Given the description of an element on the screen output the (x, y) to click on. 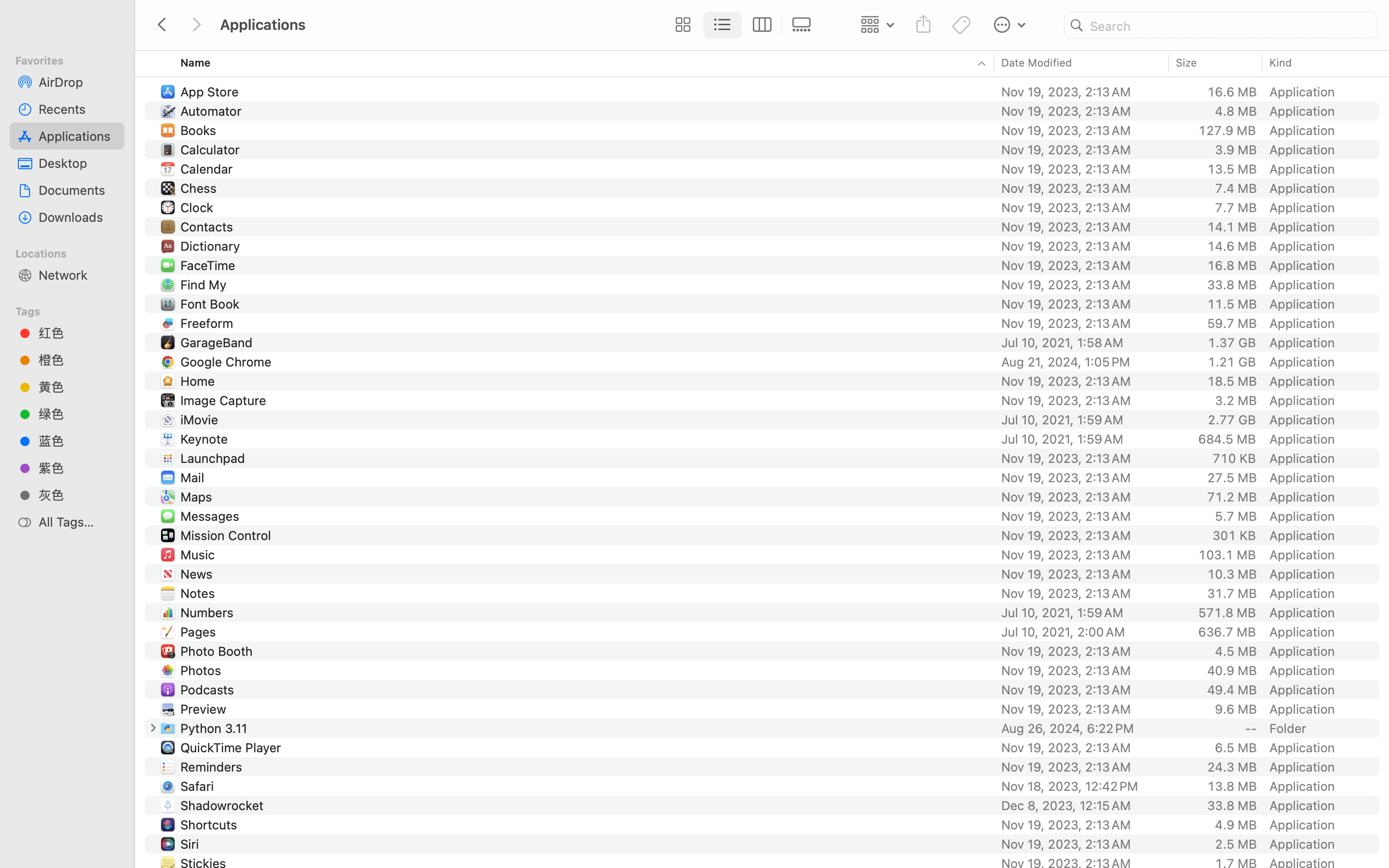
Maps Element type: AXTextField (197, 496)
Applications Element type: AXStaticText (437, 827)
Kind Element type: AXStaticText (1280, 62)
571.8 MB Element type: AXStaticText (1226, 612)
Siri Element type: AXTextField (191, 843)
